Given the description of an element on the screen output the (x, y) to click on. 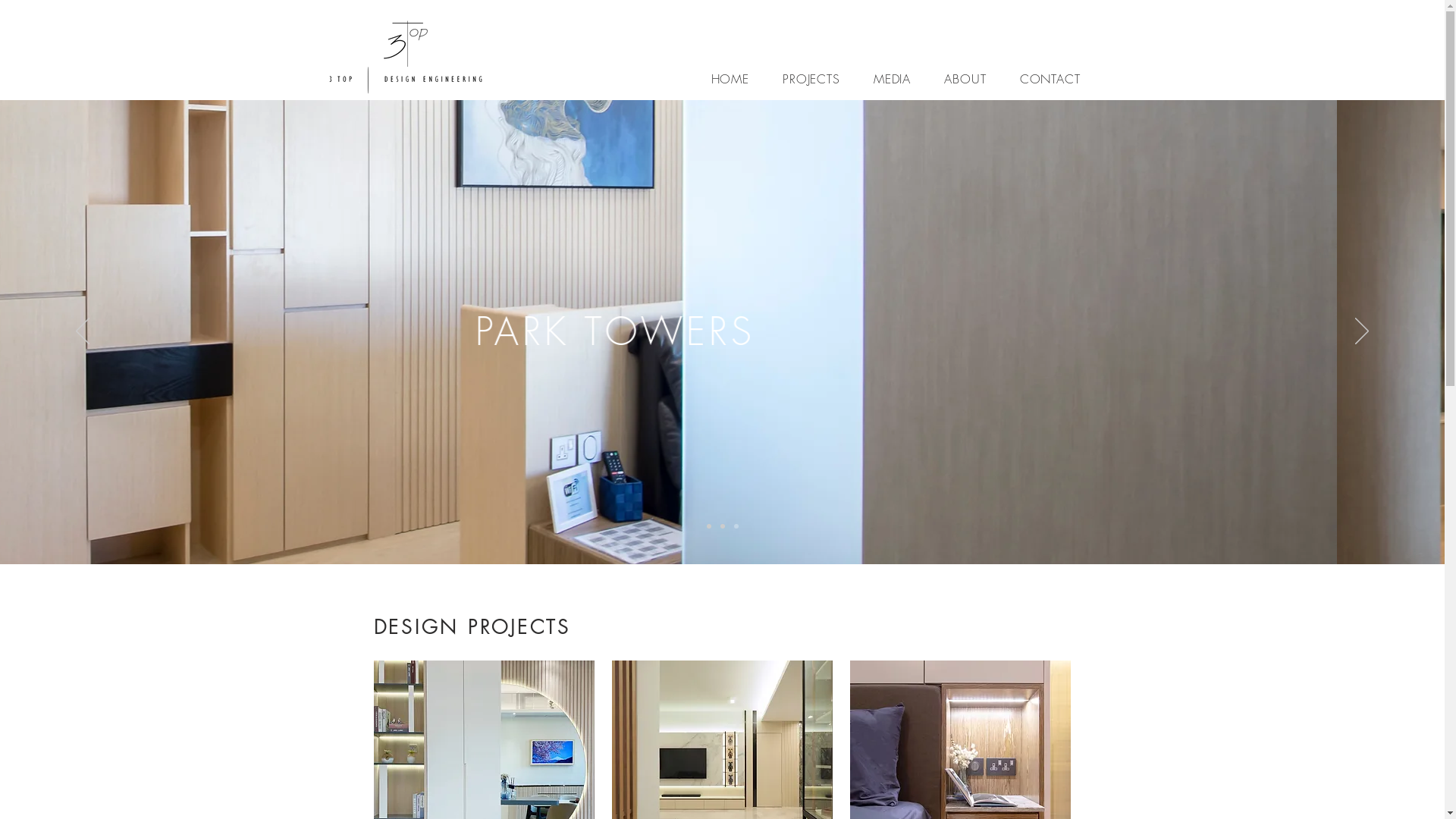
HOME Element type: text (730, 79)
CONTACT Element type: text (1050, 79)
ABOUT Element type: text (964, 79)
PROJECTS Element type: text (810, 79)
MEDIA Element type: text (891, 79)
